Given the description of an element on the screen output the (x, y) to click on. 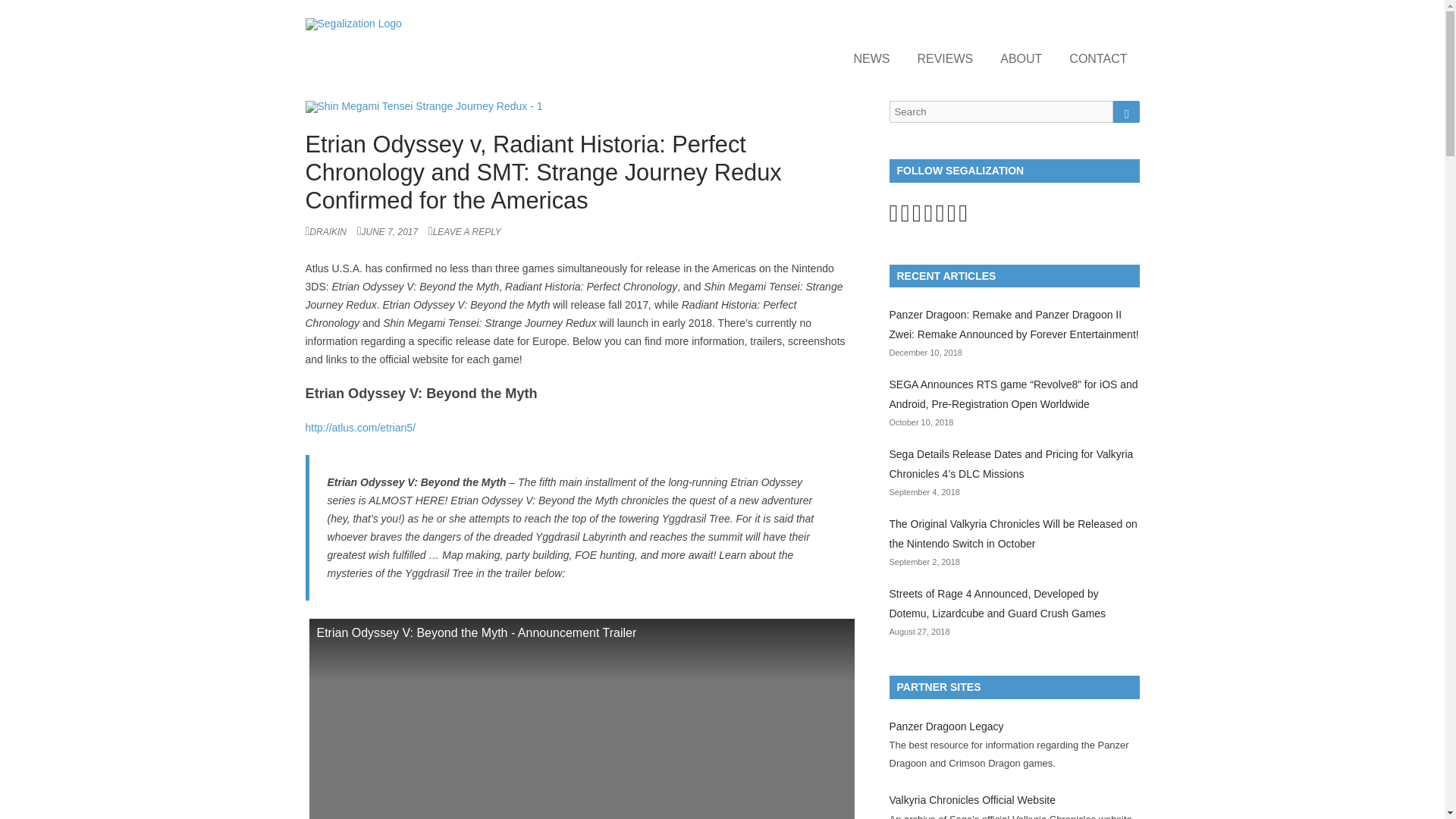
JUNE 7, 2017 (391, 231)
CONTACT (1097, 58)
LEAVE A REPLY (464, 231)
View all posts by Draikin (325, 231)
9:23 PM (391, 231)
REVIEWS (944, 58)
NEWS (871, 58)
